Given the description of an element on the screen output the (x, y) to click on. 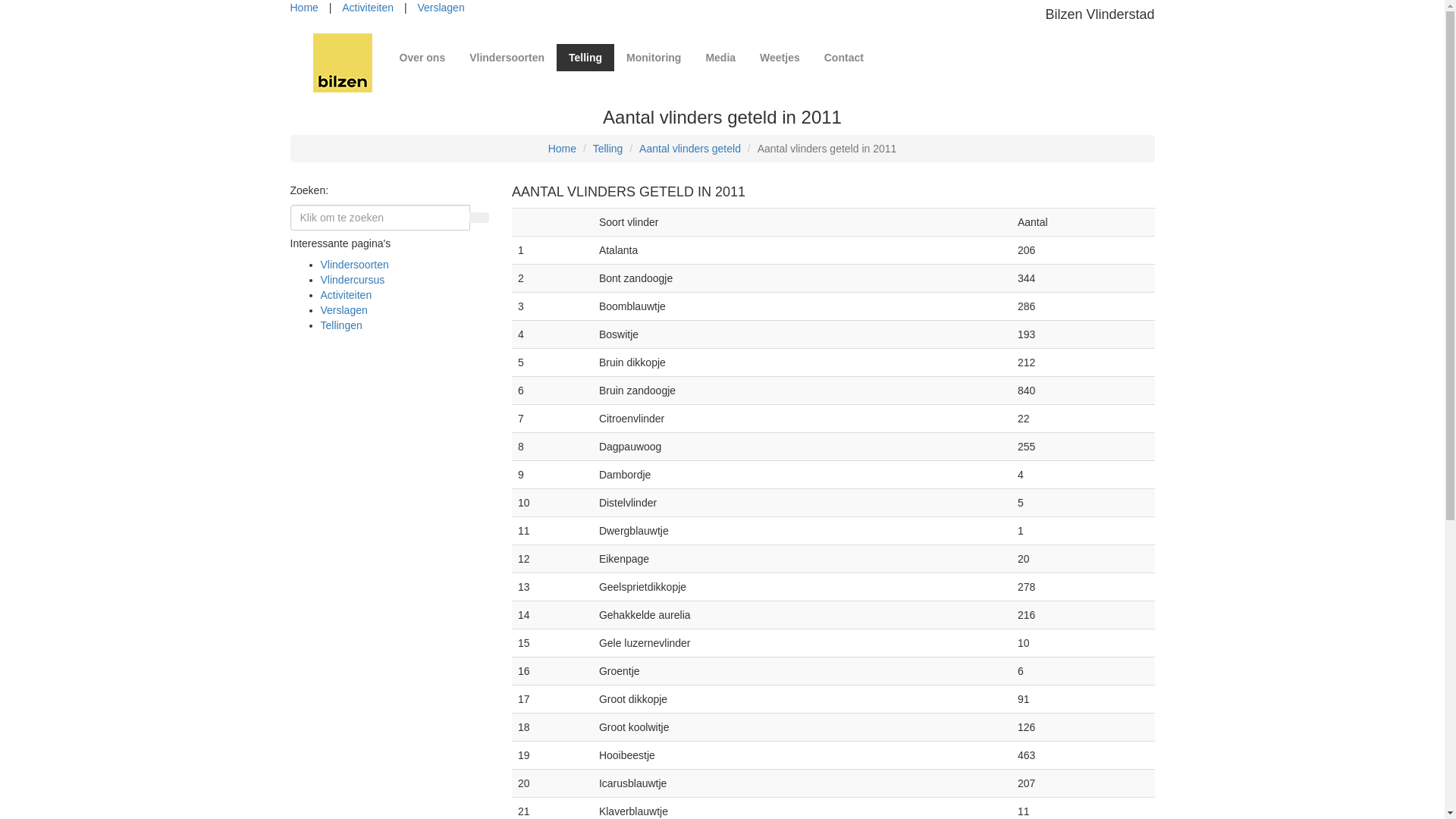
Media Element type: text (720, 57)
Contact Element type: text (843, 57)
Vlindersoorten Element type: text (354, 264)
Monitoring Element type: text (653, 57)
Telling Element type: text (608, 148)
Weetjes Element type: text (779, 57)
Activiteiten Element type: text (345, 294)
Verslagen Element type: text (343, 310)
Verslagen Element type: text (440, 7)
Vlindercursus Element type: text (352, 279)
Vlindersoorten Element type: text (506, 57)
Tellingen Element type: text (340, 325)
Aantal vlinders geteld Element type: text (689, 148)
Home Element type: text (303, 7)
Activiteiten Element type: text (367, 7)
Over ons Element type: text (421, 57)
Telling Element type: text (585, 57)
Home Element type: text (562, 148)
